Given the description of an element on the screen output the (x, y) to click on. 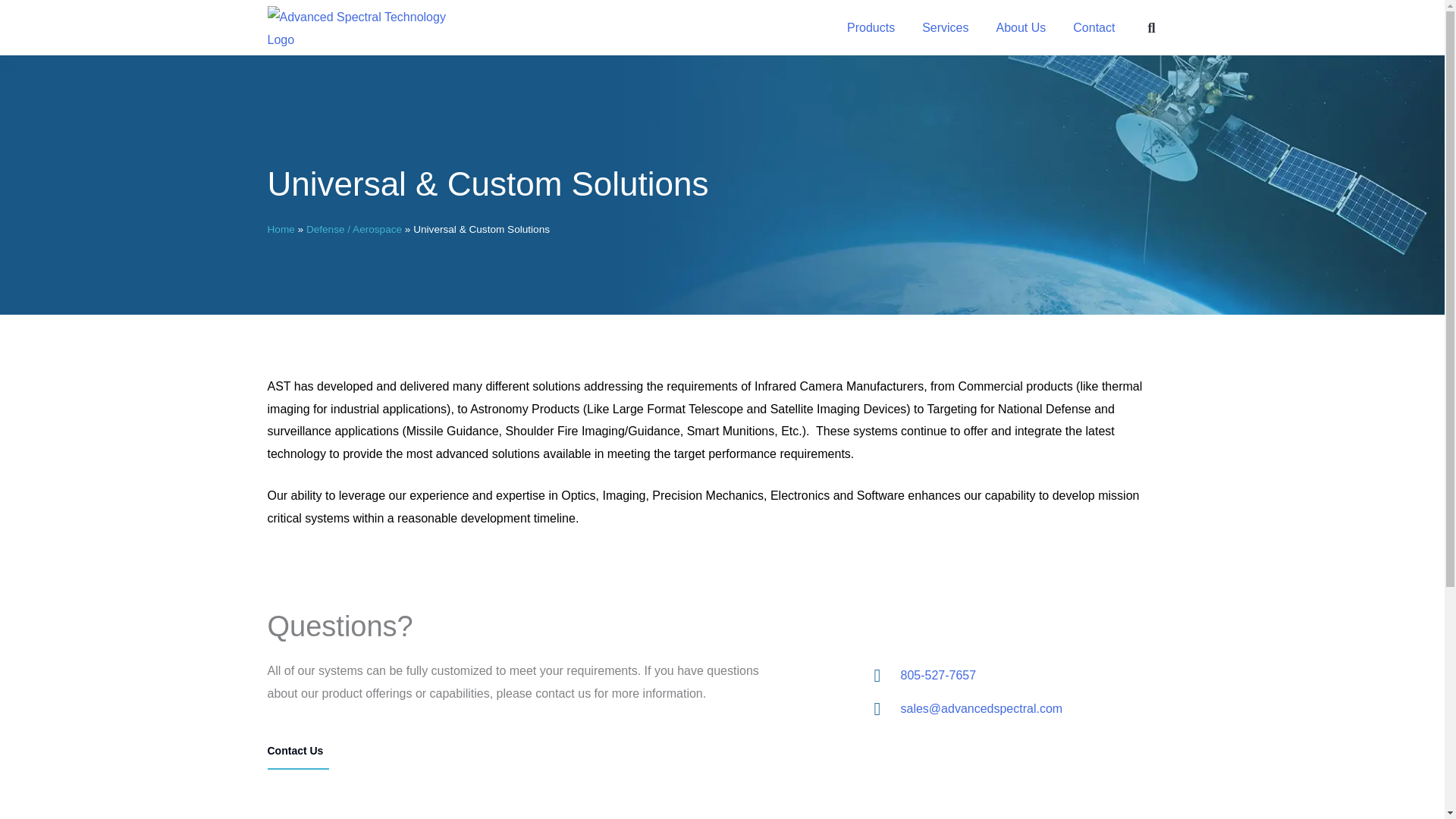
Contact (1093, 27)
About Us (1020, 27)
Products (870, 27)
Home (280, 229)
Services (944, 27)
